Given the description of an element on the screen output the (x, y) to click on. 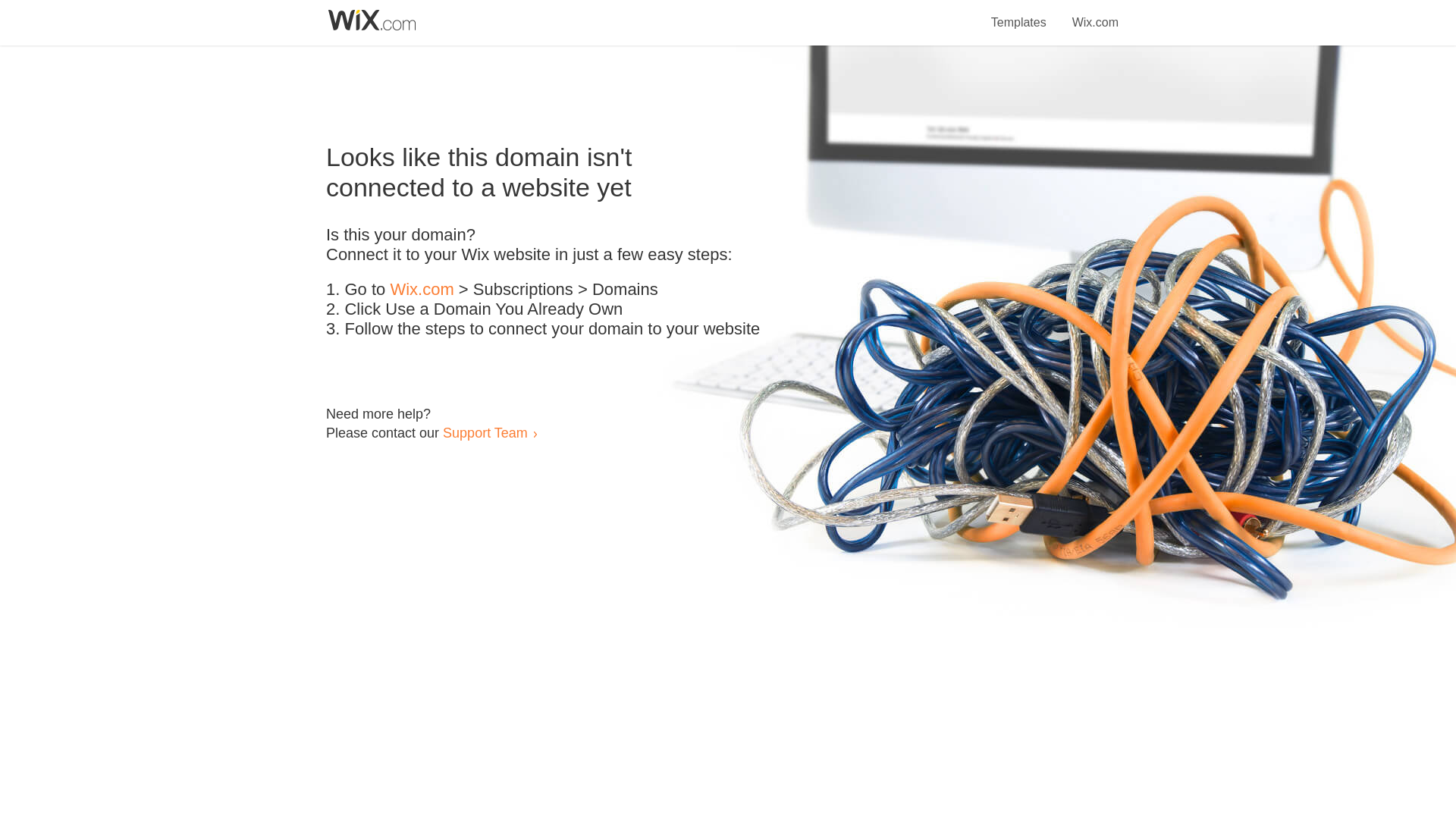
Support Team (484, 432)
Wix.com (1095, 14)
Templates (1018, 14)
Wix.com (421, 289)
